Given the description of an element on the screen output the (x, y) to click on. 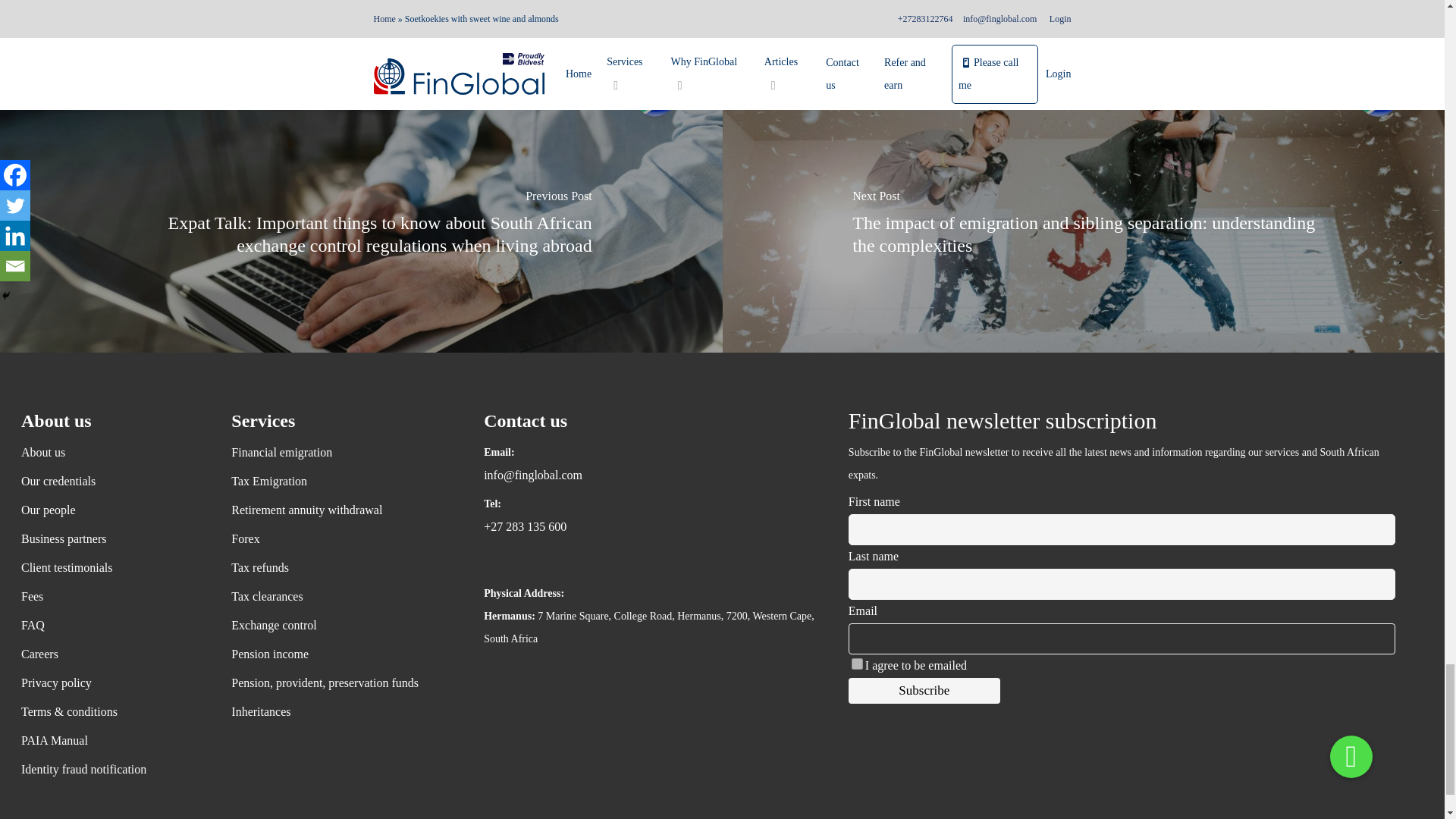
Our Credentials (112, 481)
Client Testimonials (112, 567)
About Us (112, 452)
on (857, 663)
Business Partners (112, 538)
Our People (112, 509)
